Given the description of an element on the screen output the (x, y) to click on. 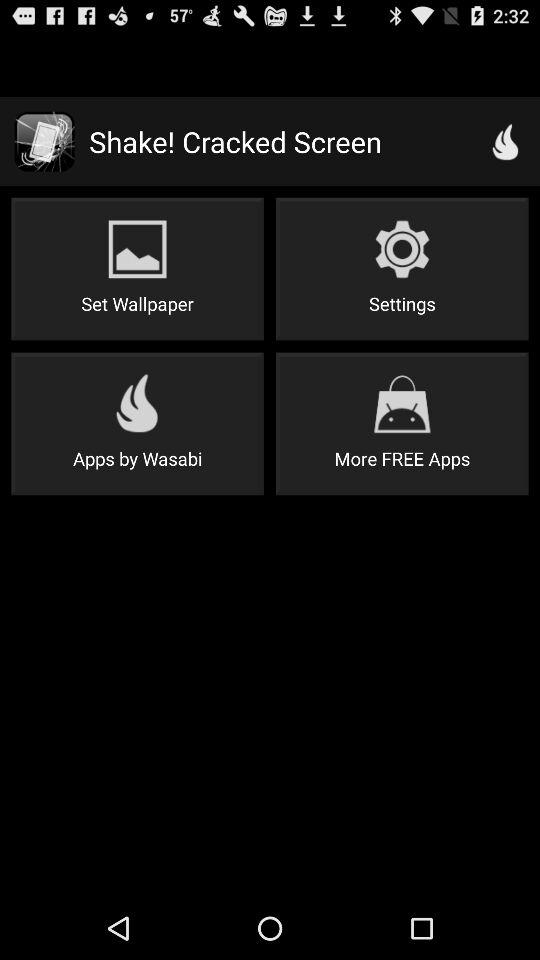
turn on the icon next to the more free apps button (137, 423)
